Given the description of an element on the screen output the (x, y) to click on. 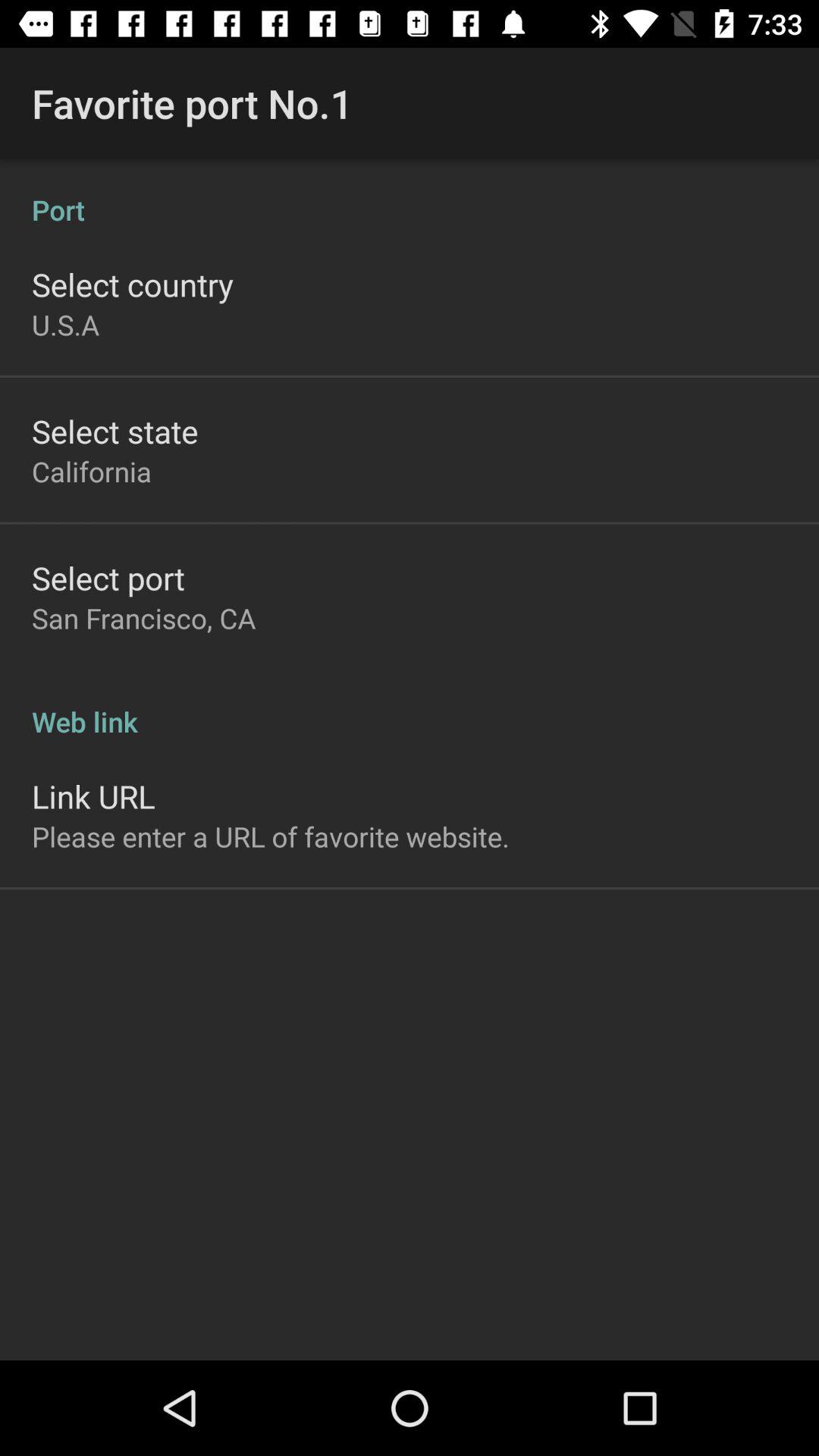
open the web link at the center (409, 705)
